Given the description of an element on the screen output the (x, y) to click on. 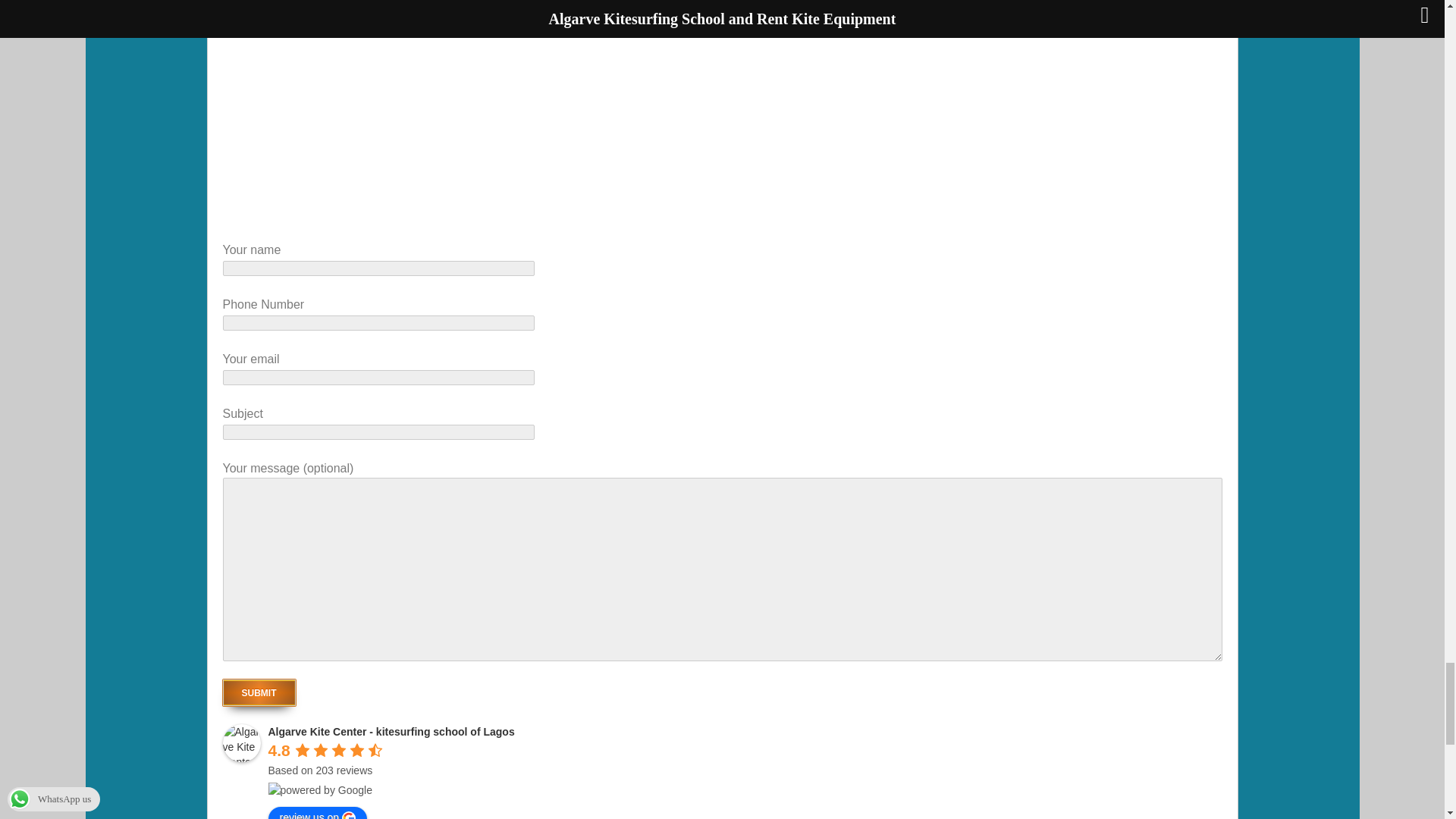
review us on (317, 812)
Algarve Kite Center - kitesurfing school of Lagos (241, 742)
Algarve Kite Center - kitesurfing school of Lagos (391, 731)
Submit (258, 692)
Submit (258, 692)
powered by Google (319, 789)
